Given the description of an element on the screen output the (x, y) to click on. 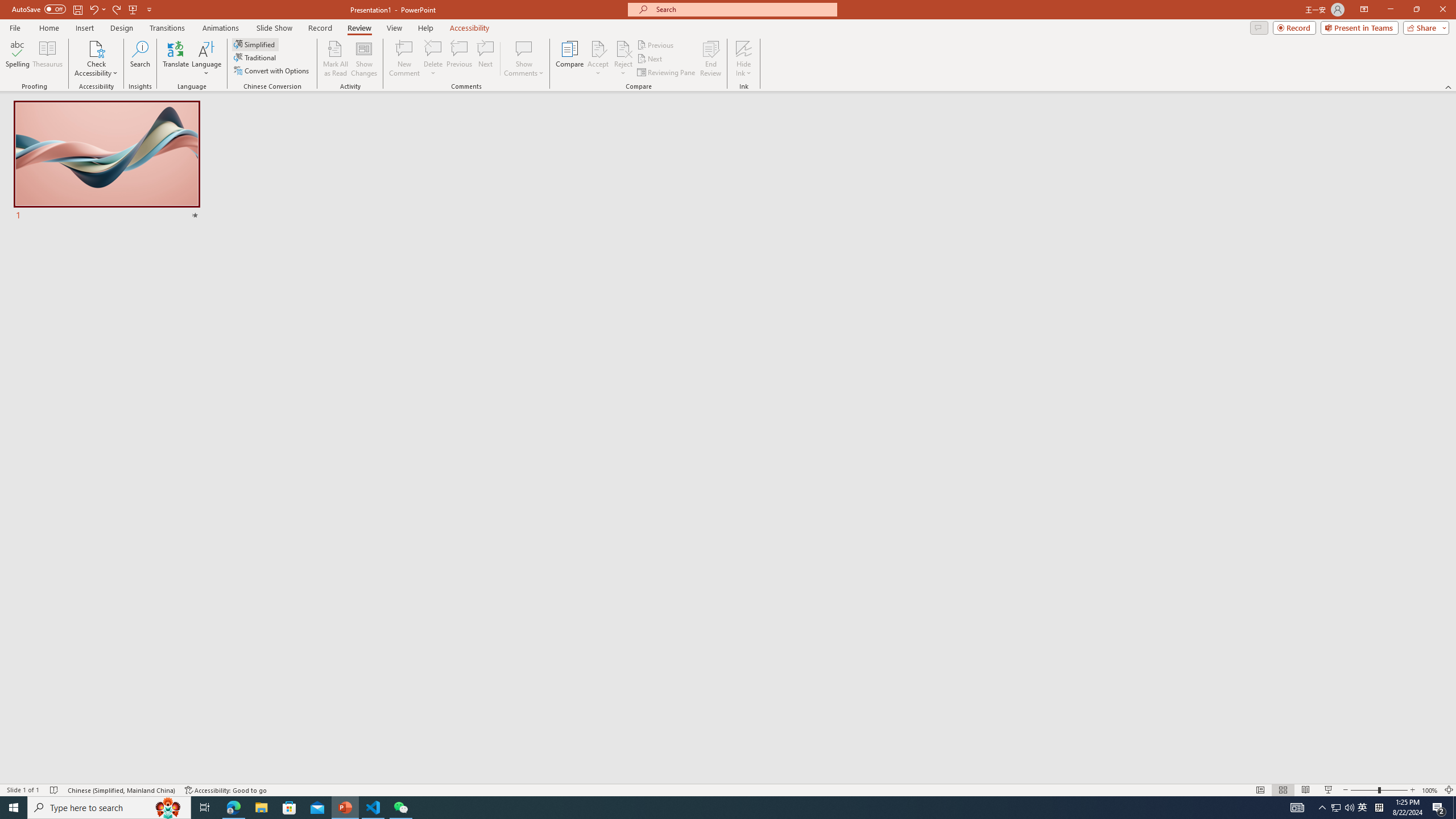
Language (206, 58)
